Given the description of an element on the screen output the (x, y) to click on. 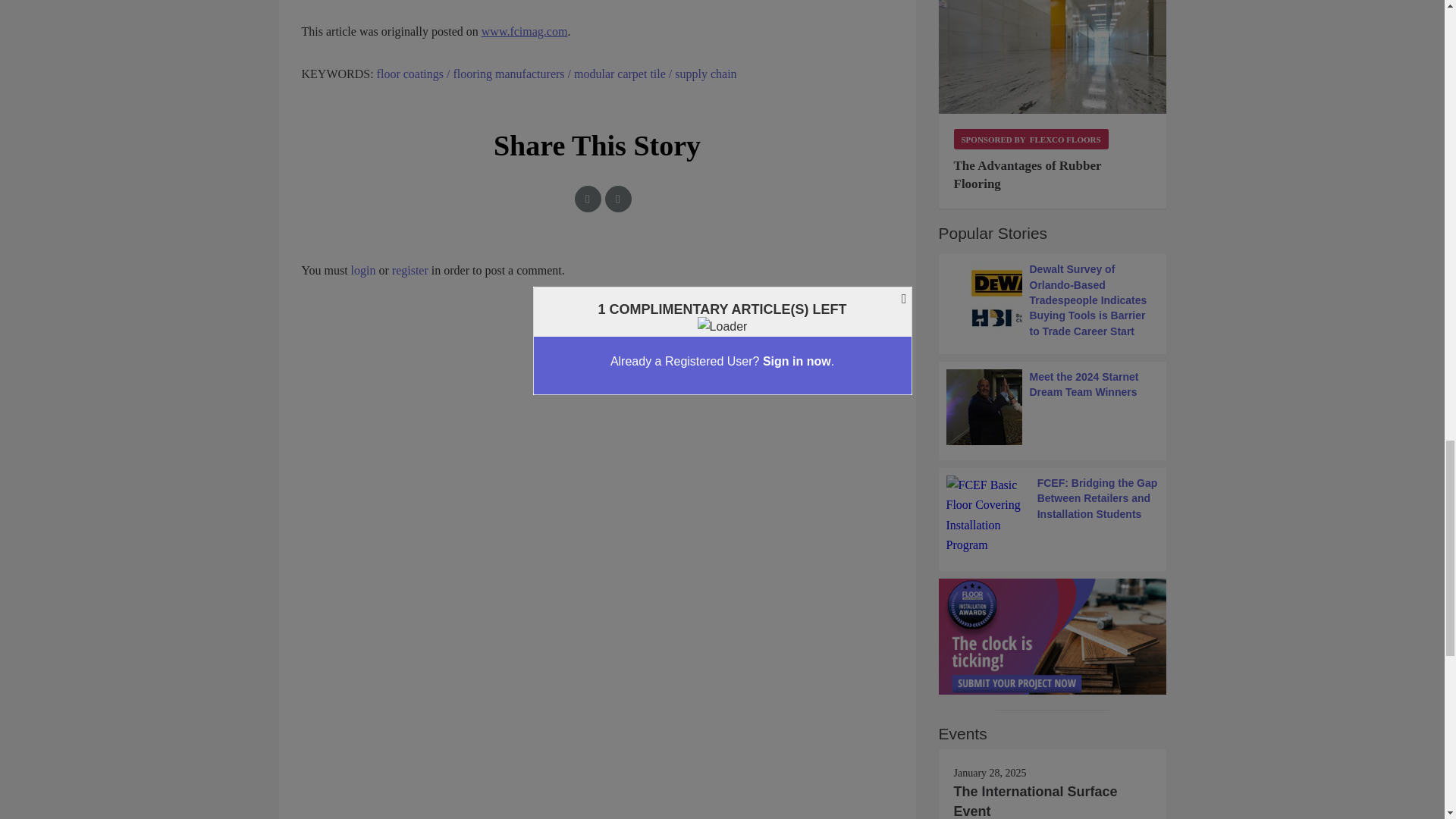
The International Surface Event (1035, 801)
rubber flooring (1052, 57)
Sponsored by Flexco Floors (1030, 138)
Meet the 2024 Starnet Dream Team Winners (1052, 407)
